Given the description of an element on the screen output the (x, y) to click on. 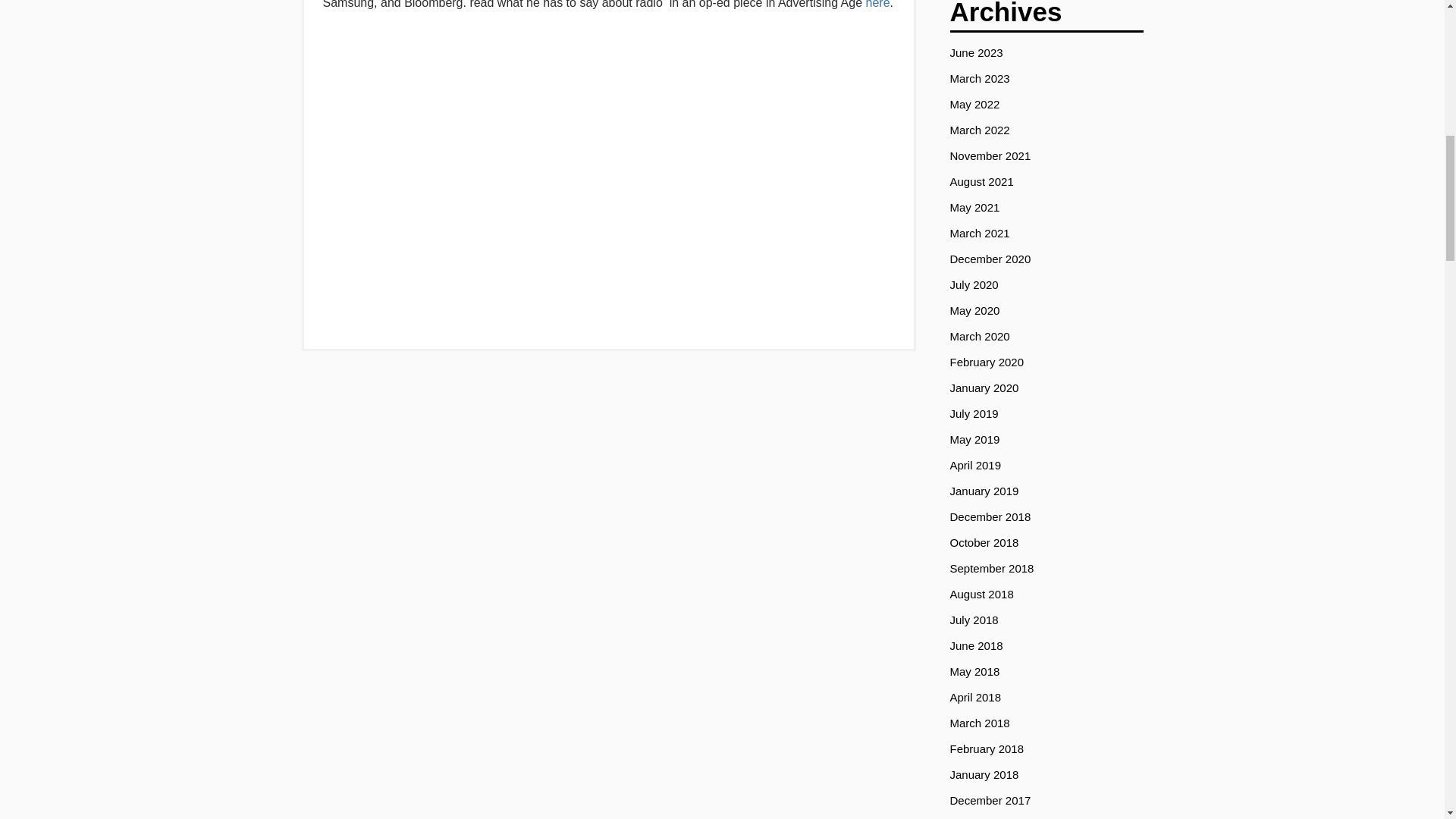
March 2023 (979, 78)
August 2021 (981, 181)
here (877, 4)
May 2021 (973, 206)
March 2022 (979, 129)
November 2021 (989, 155)
May 2022 (973, 103)
March 2021 (979, 232)
June 2023 (976, 51)
